Given the description of an element on the screen output the (x, y) to click on. 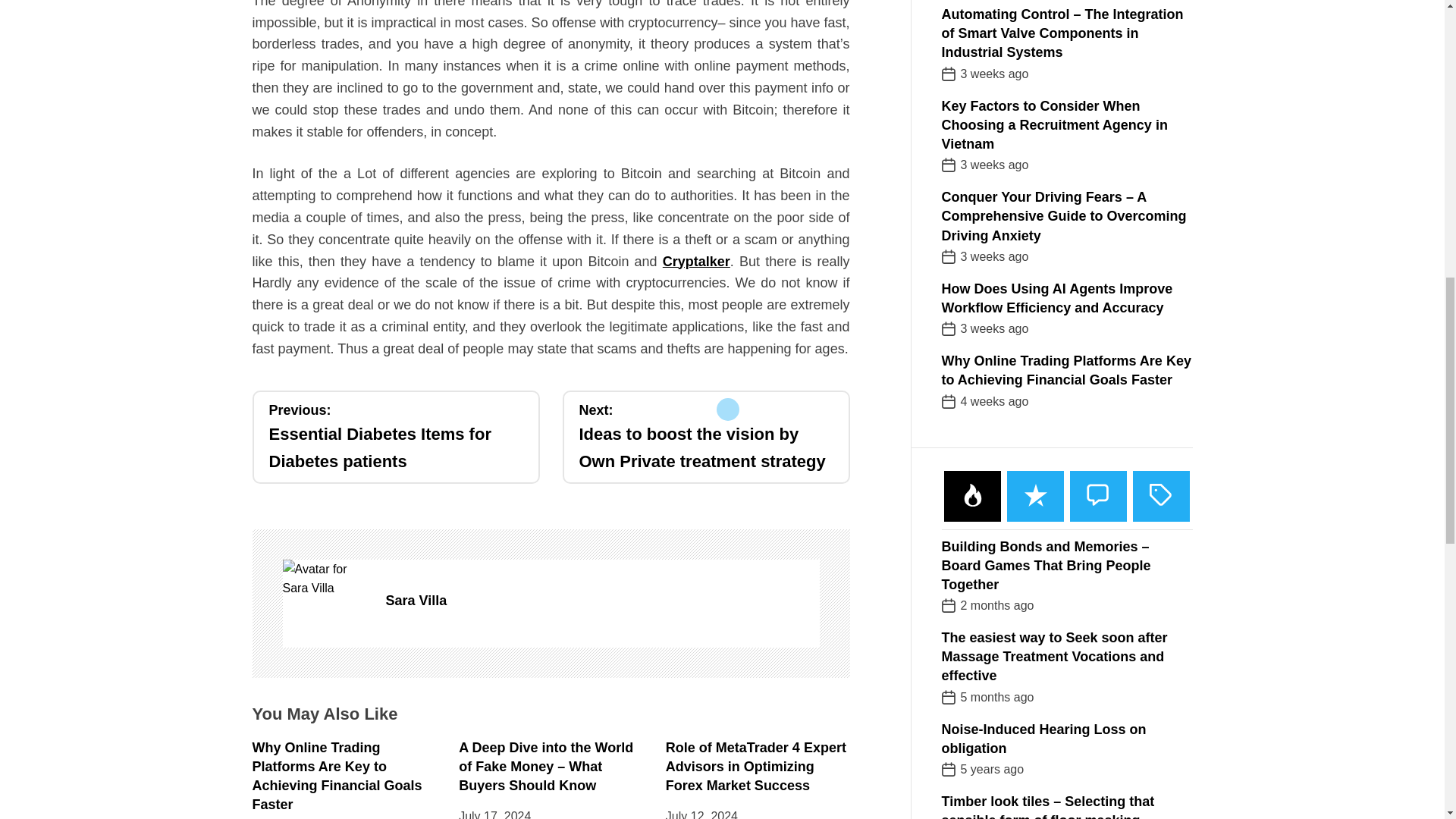
POPULAR (972, 457)
RECENT (1035, 457)
Sara Villa (325, 578)
Sara Villa (601, 600)
Sara Villa (394, 437)
